Given the description of an element on the screen output the (x, y) to click on. 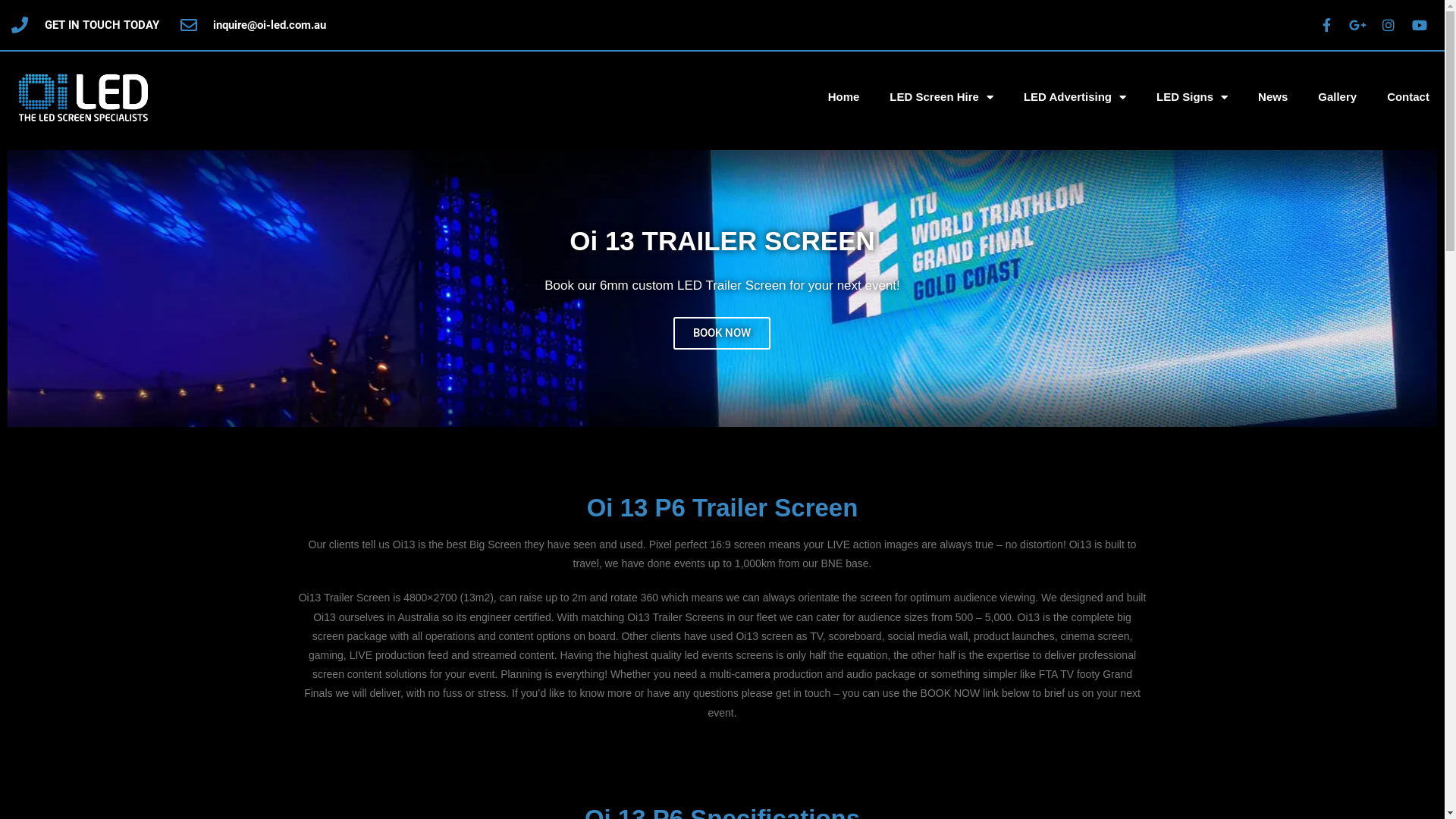
LED Signs Element type: text (1191, 96)
LED Screen Hire Element type: text (941, 96)
inquire@oi-led.com.au Element type: text (253, 25)
Home Element type: text (843, 96)
Gallery Element type: text (1336, 96)
GET IN TOUCH TODAY Element type: text (85, 25)
News Element type: text (1272, 96)
Contact Element type: text (1407, 96)
LED Advertising Element type: text (1074, 96)
